Given the description of an element on the screen output the (x, y) to click on. 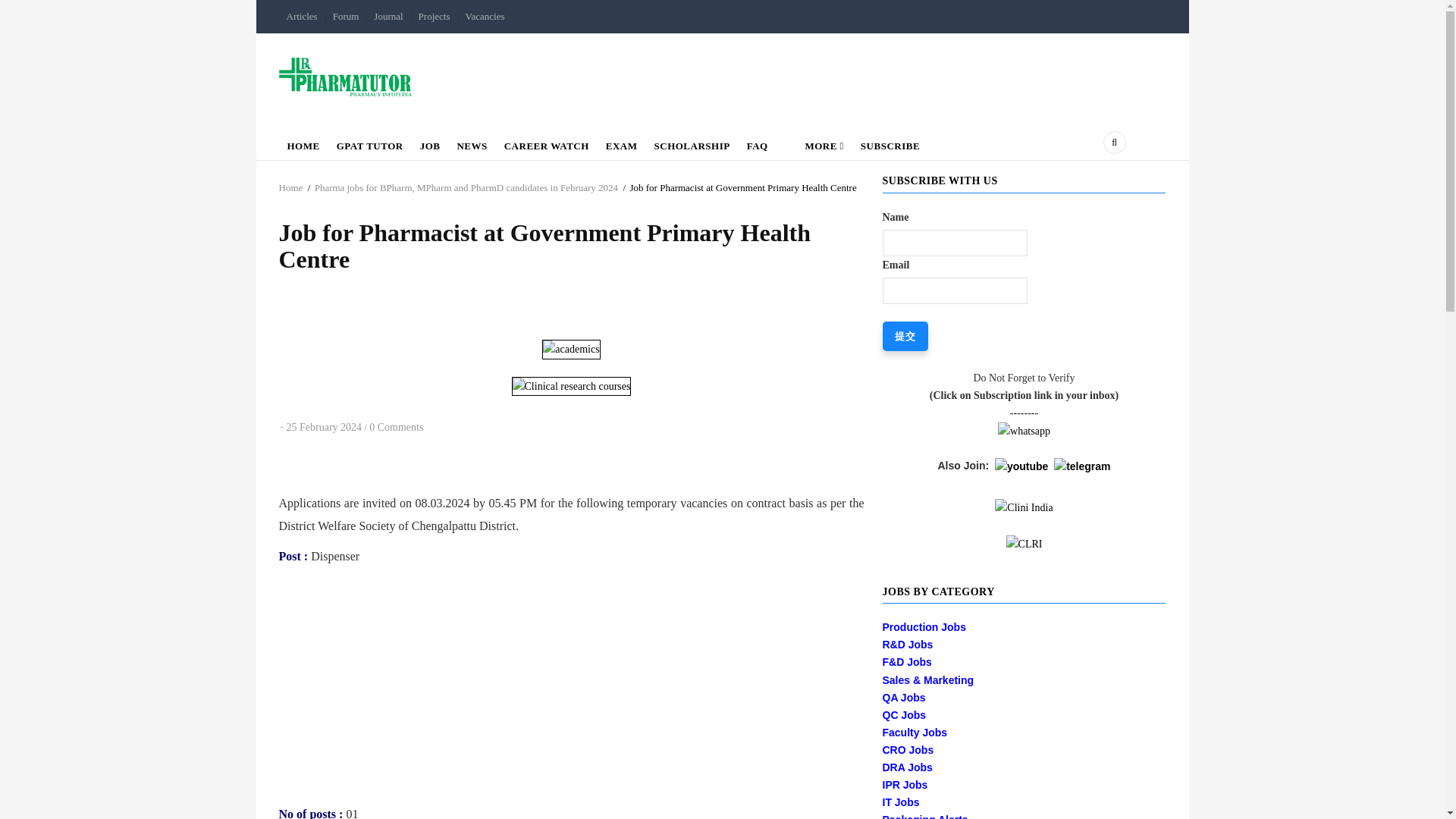
Forum (345, 16)
SUBSCRIBE (889, 142)
SCHOLARSHIP (692, 142)
FAQ (757, 142)
Vacancies (485, 16)
JOB (430, 142)
Home (290, 187)
Articles (301, 16)
NEWS (471, 142)
